Given the description of an element on the screen output the (x, y) to click on. 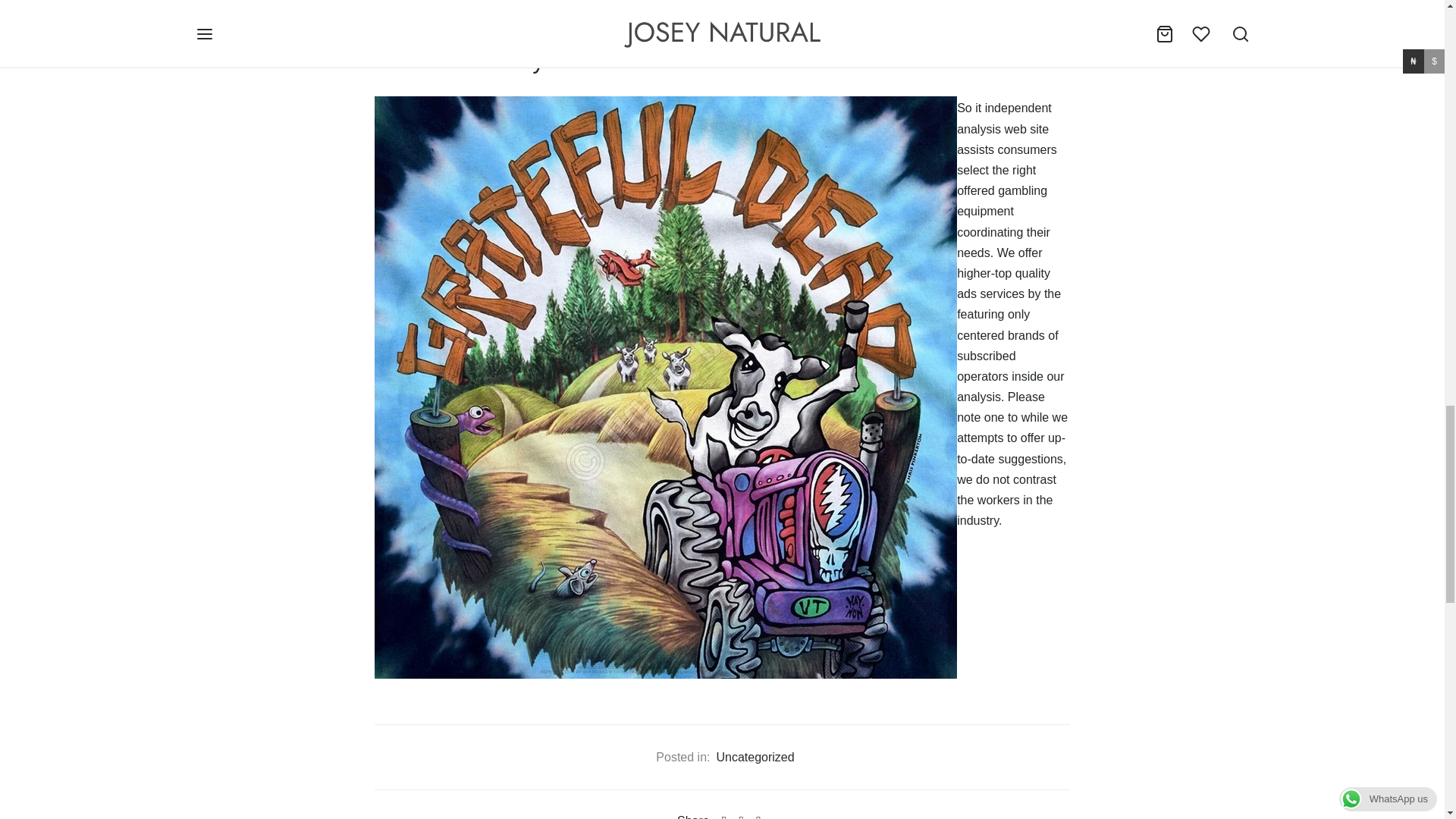
Uncategorized (754, 756)
